Given the description of an element on the screen output the (x, y) to click on. 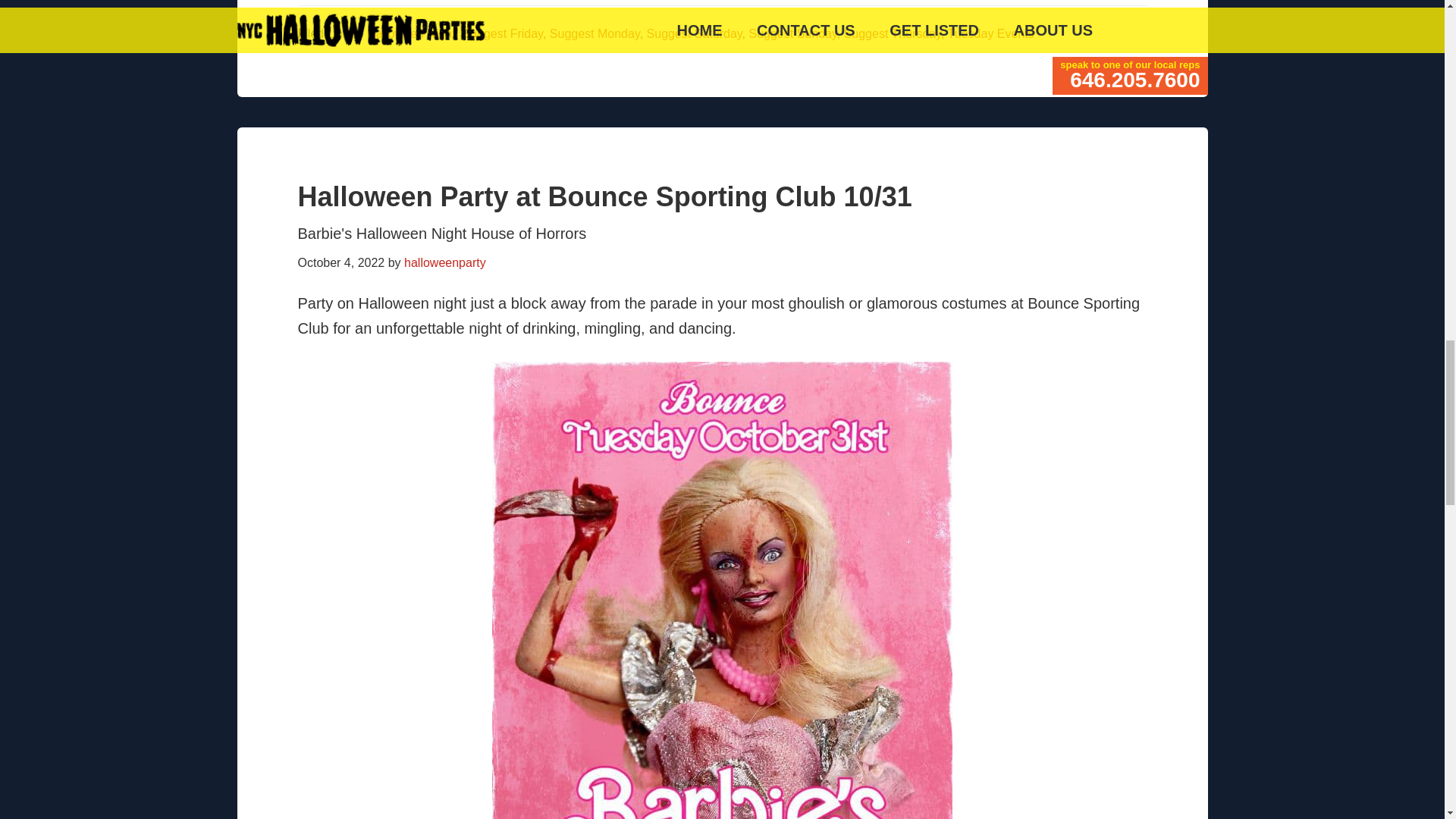
Suggest Monday (595, 33)
Halloween Night (410, 33)
Suggest Saturday (694, 33)
halloweenparty (445, 262)
Suggest Thursday (892, 33)
Suggest Friday (503, 33)
Tuesday Events (990, 33)
Suggest Sunday (793, 33)
